Given the description of an element on the screen output the (x, y) to click on. 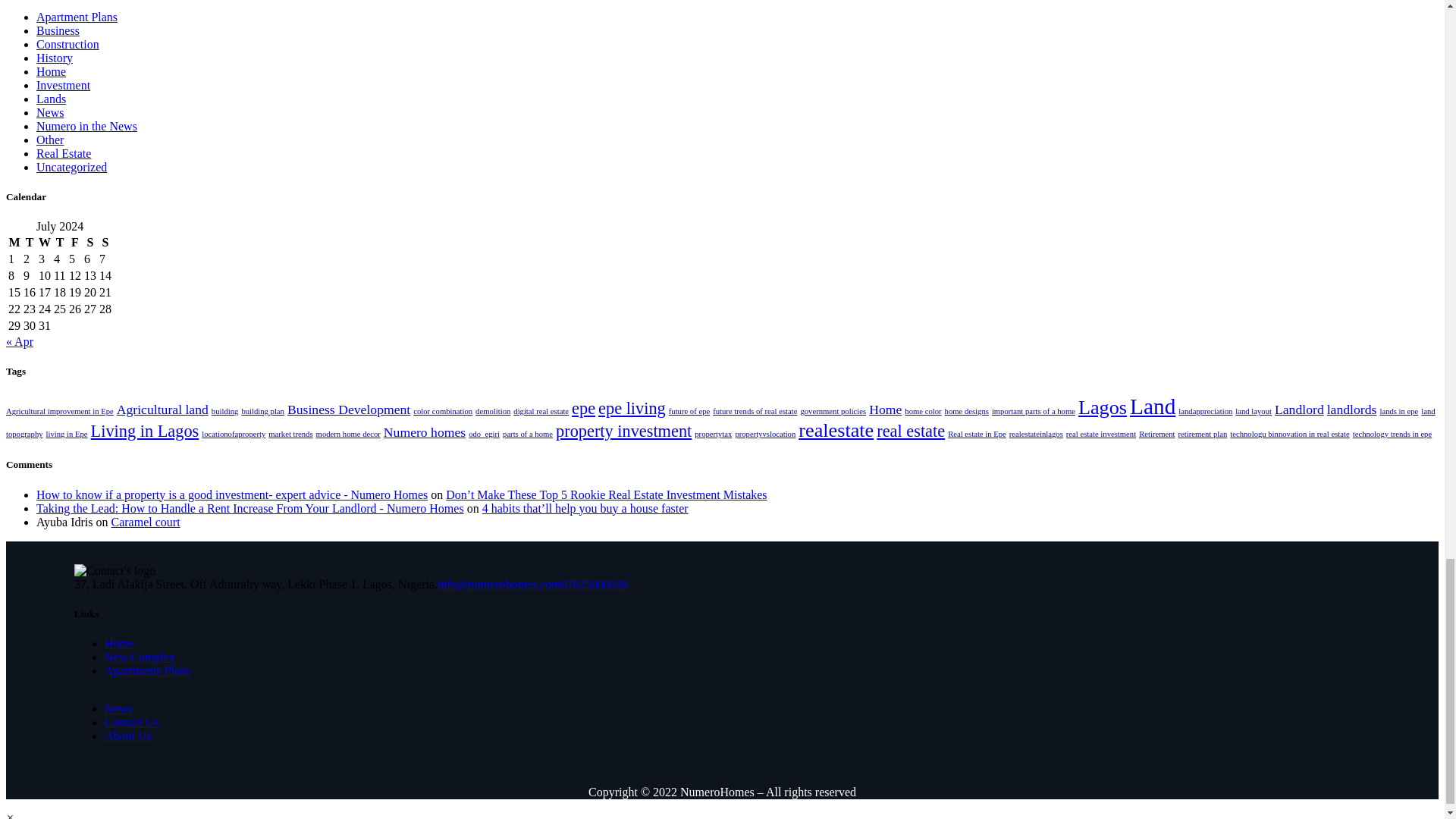
Thursday (59, 242)
Monday (14, 242)
Saturday (89, 242)
Sunday (105, 242)
Tuesday (29, 242)
Wednesday (43, 242)
Friday (74, 242)
